Given the description of an element on the screen output the (x, y) to click on. 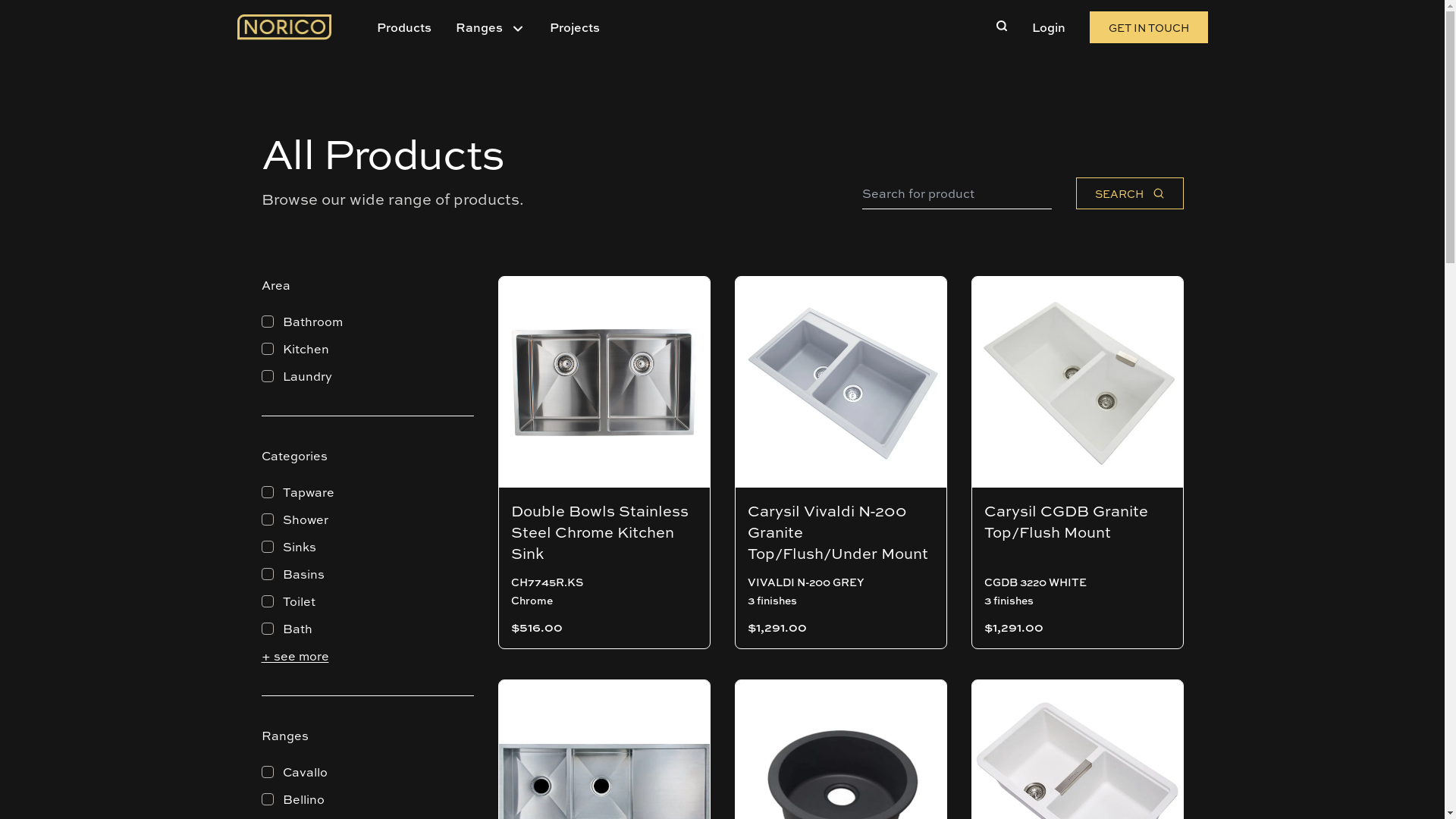
+ see more Element type: text (294, 655)
Login Element type: text (1047, 27)
Products Element type: text (403, 27)
GET IN TOUCH Element type: text (1147, 27)
SEARCH Element type: text (1129, 193)
Projects Element type: text (574, 27)
